Given the description of an element on the screen output the (x, y) to click on. 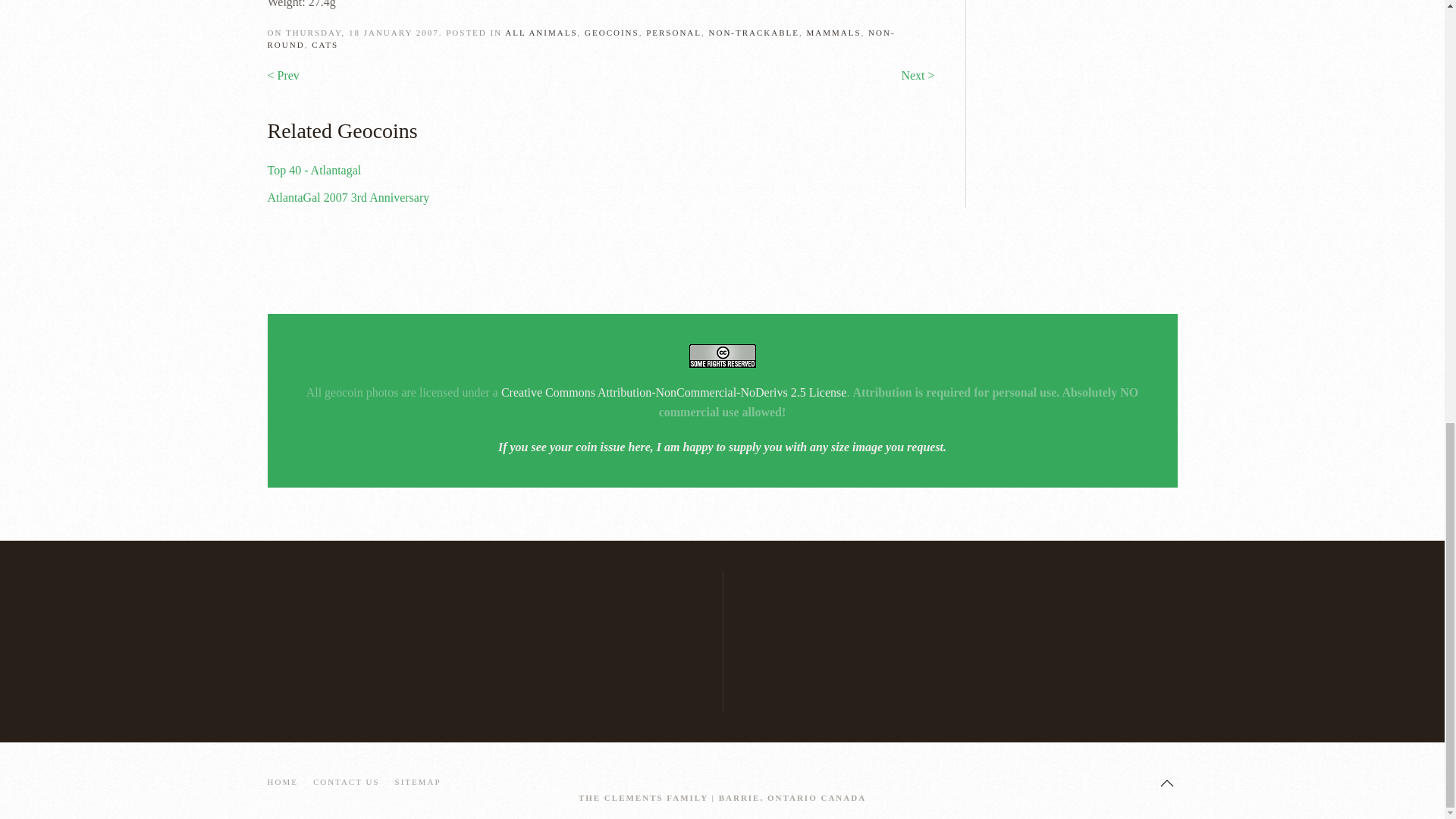
Jump to top (1166, 783)
Top 40 - Atlantagal (313, 169)
AtlantaGal 2007 3rd Anniversary (347, 196)
